Given the description of an element on the screen output the (x, y) to click on. 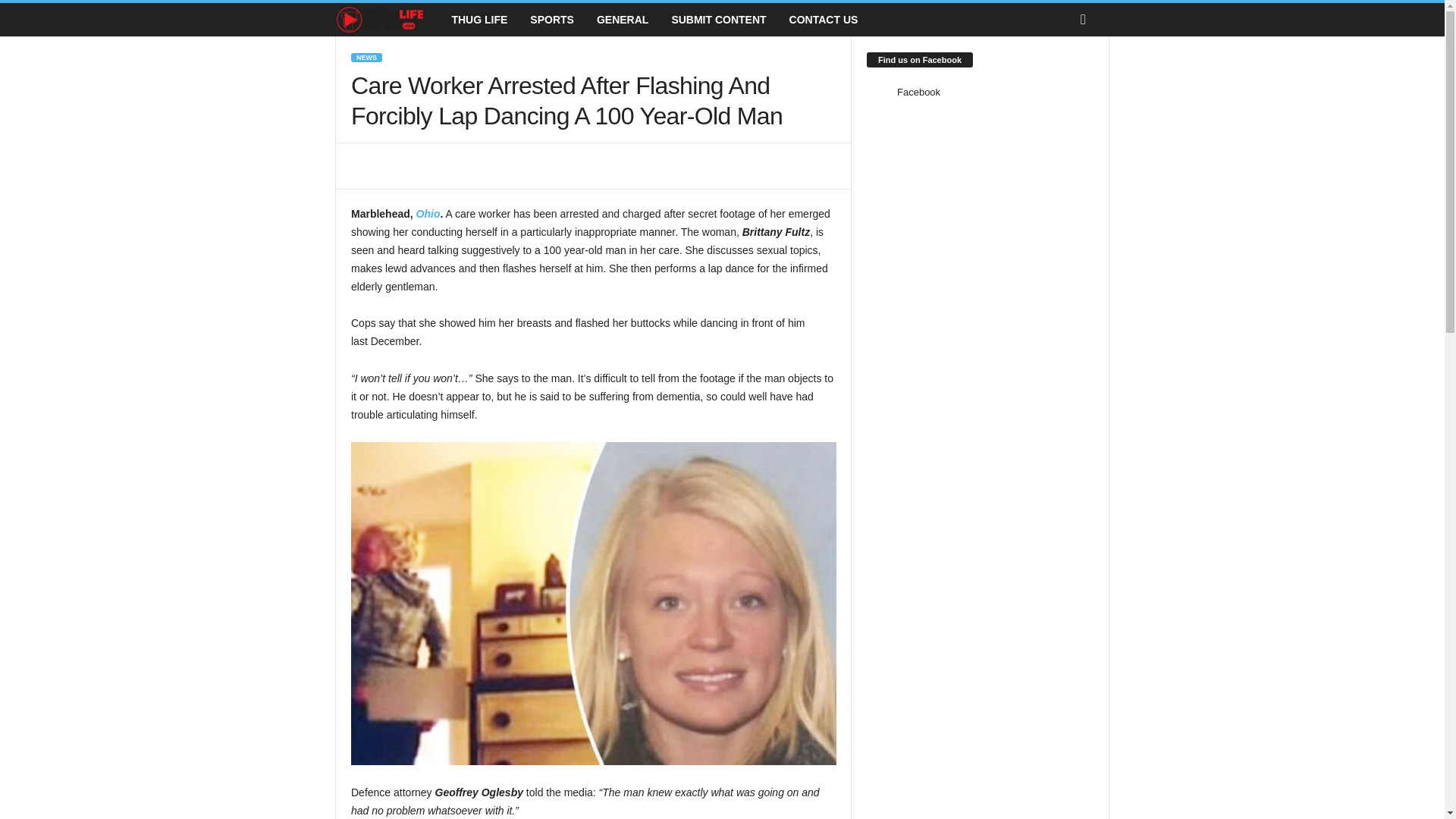
NEWS (365, 57)
GENERAL (622, 19)
CONTACT US (823, 19)
Thug Life Videos (378, 19)
SUBMIT CONTENT (718, 19)
THUG LIFE (478, 19)
Thug Life Videos (386, 19)
SPORTS (551, 19)
